Given the description of an element on the screen output the (x, y) to click on. 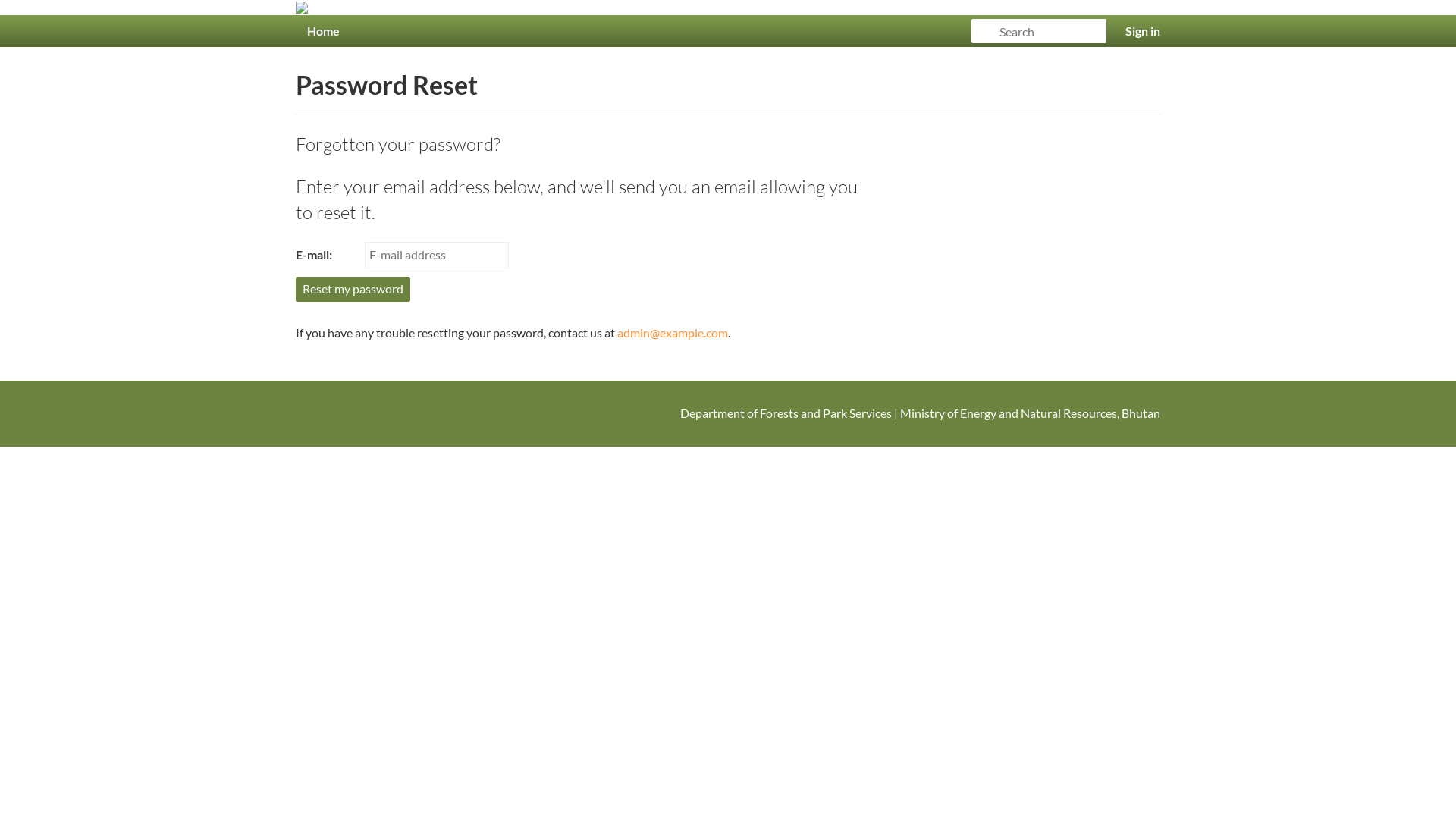
admin@example.com Element type: text (672, 332)
Sign in Element type: text (1142, 31)
Home Element type: text (323, 31)
Reset my password Element type: text (352, 288)
